Given the description of an element on the screen output the (x, y) to click on. 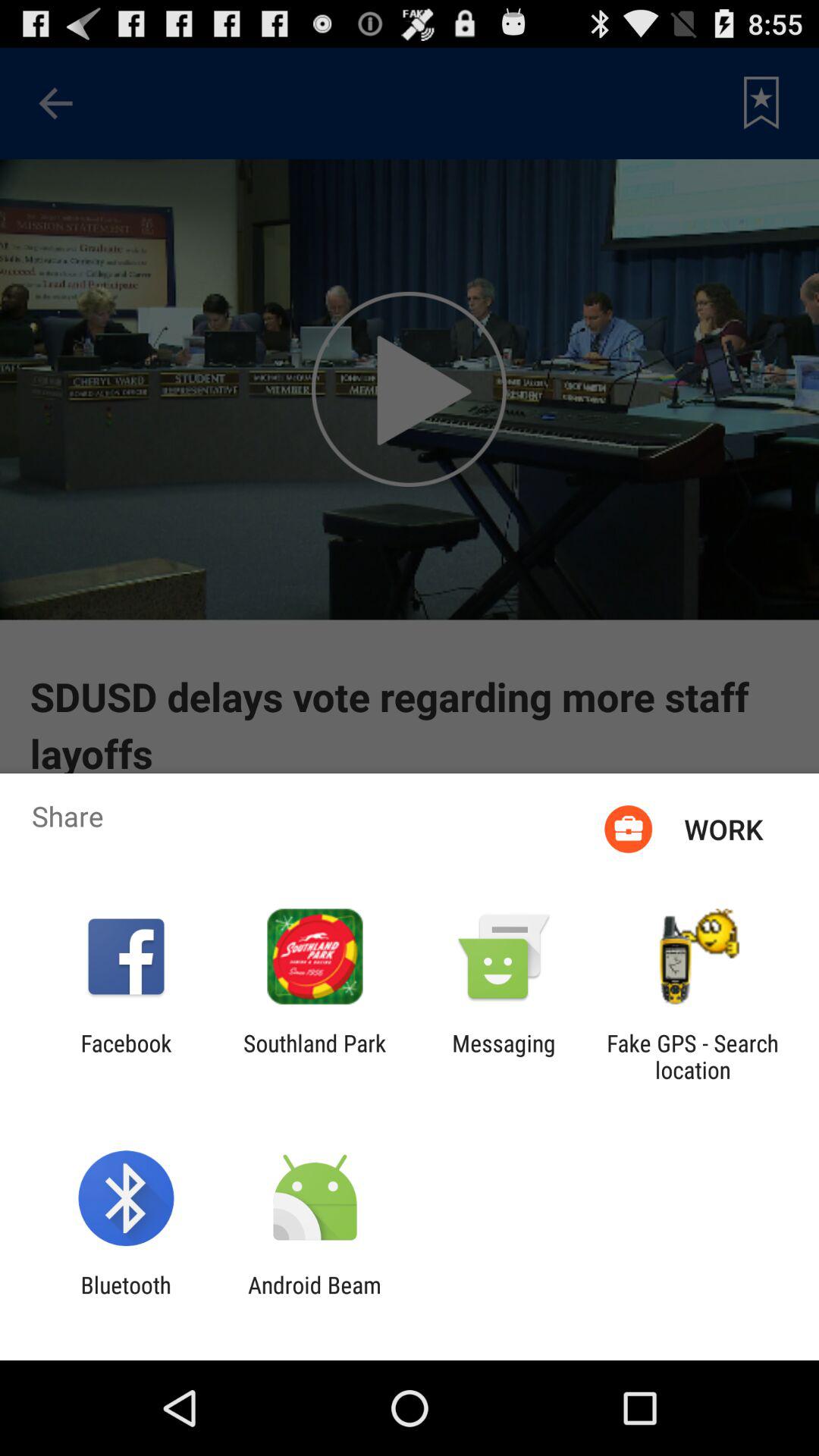
turn off the fake gps search app (692, 1056)
